Given the description of an element on the screen output the (x, y) to click on. 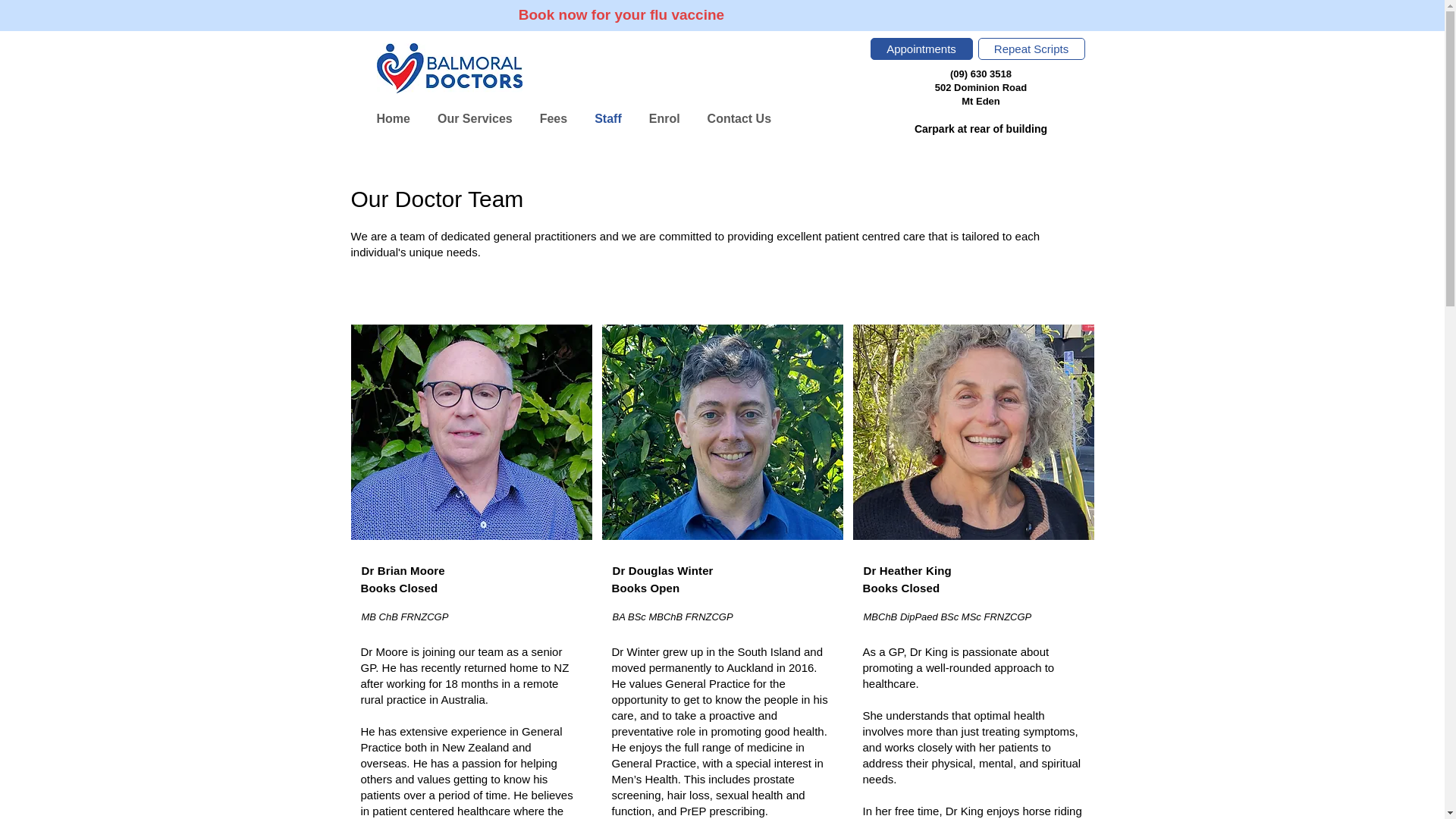
Our Services (475, 118)
Mt Eden (980, 101)
Home (392, 118)
Photo Aug 2023.jpg (470, 427)
Enrol (664, 118)
Fees (553, 118)
Staff (607, 118)
Appointments (921, 48)
Repeat Scripts (1031, 48)
Contact Us (739, 118)
